Given the description of an element on the screen output the (x, y) to click on. 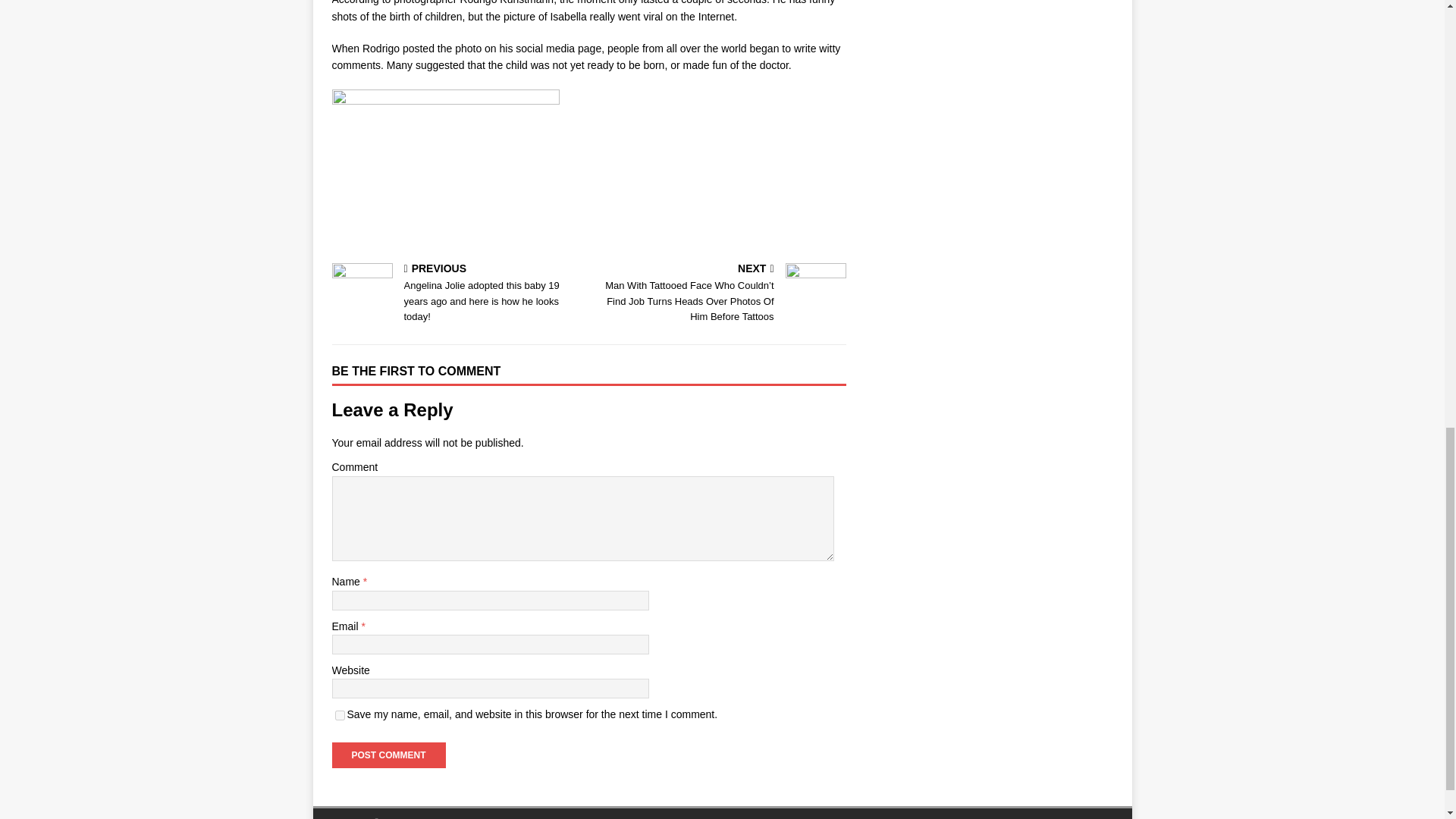
Post Comment (388, 755)
Post Comment (388, 755)
yes (339, 715)
